Given the description of an element on the screen output the (x, y) to click on. 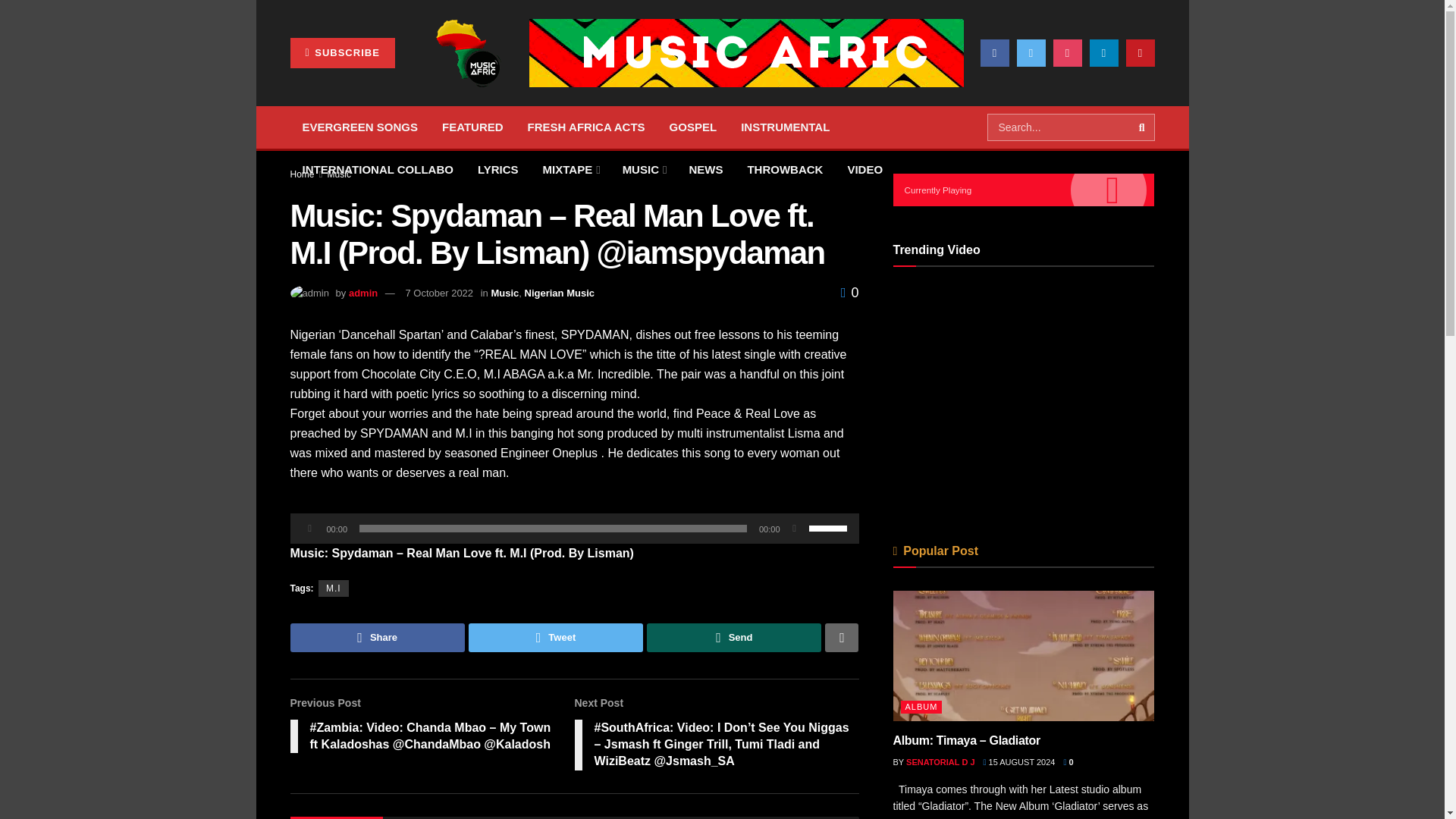
MUSIC (643, 169)
MIXTAPE (570, 169)
INSTRUMENTAL (785, 127)
LYRICS (498, 169)
FEATURED (472, 127)
EVERGREEN SONGS (359, 127)
SUBSCRIBE (341, 52)
INTERNATIONAL COLLABO (376, 169)
ALBUM (381, 84)
Play (309, 528)
